Given the description of an element on the screen output the (x, y) to click on. 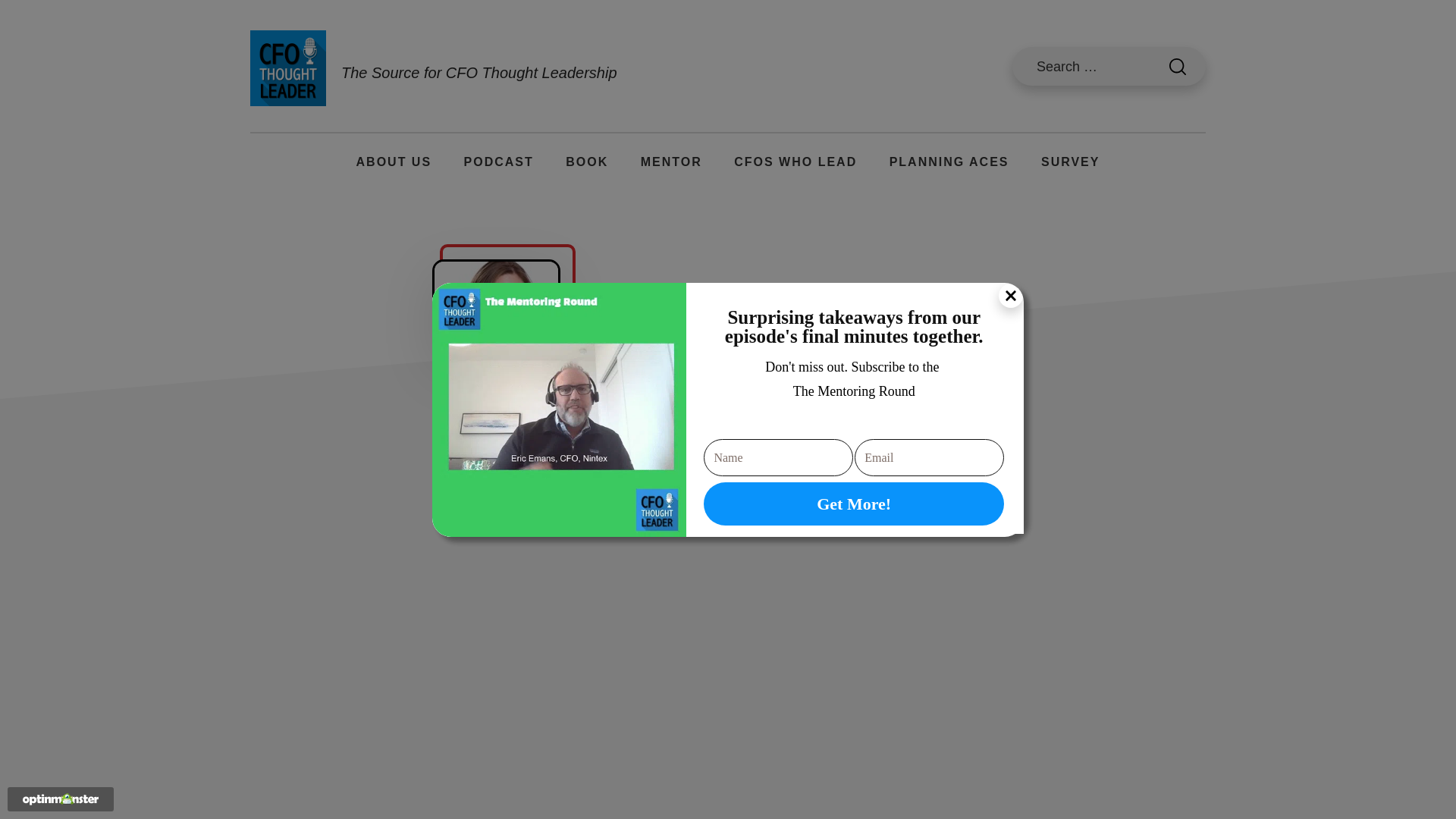
Close (1010, 295)
Search for: (1108, 65)
Survey (1070, 161)
PODCAST (498, 161)
MENTOR (671, 161)
? (1177, 66)
? (1177, 66)
Powered by OptinMonster (61, 799)
SURVEY (1070, 161)
The CFO 500 (586, 161)
CFO THOUGHT LEADER (288, 68)
? (1177, 66)
BOOK (586, 161)
Get More! (853, 503)
PLANNING ACES (949, 161)
